Given the description of an element on the screen output the (x, y) to click on. 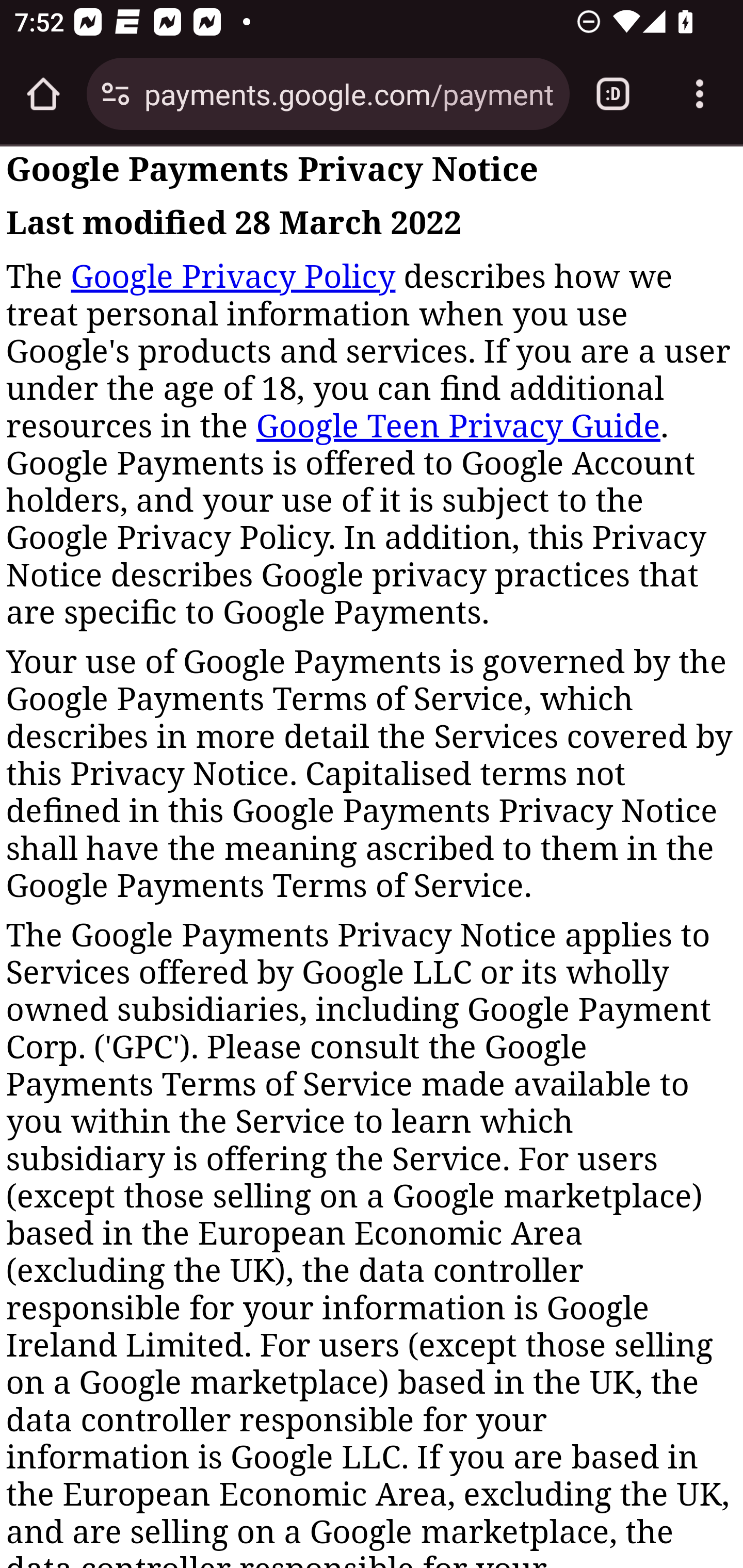
Open the home page (43, 93)
Connection is secure (115, 93)
Switch or close tabs (612, 93)
Customize and control Google Chrome (699, 93)
Google Privacy Policy (232, 276)
Google Teen Privacy Guide (458, 426)
